Given the description of an element on the screen output the (x, y) to click on. 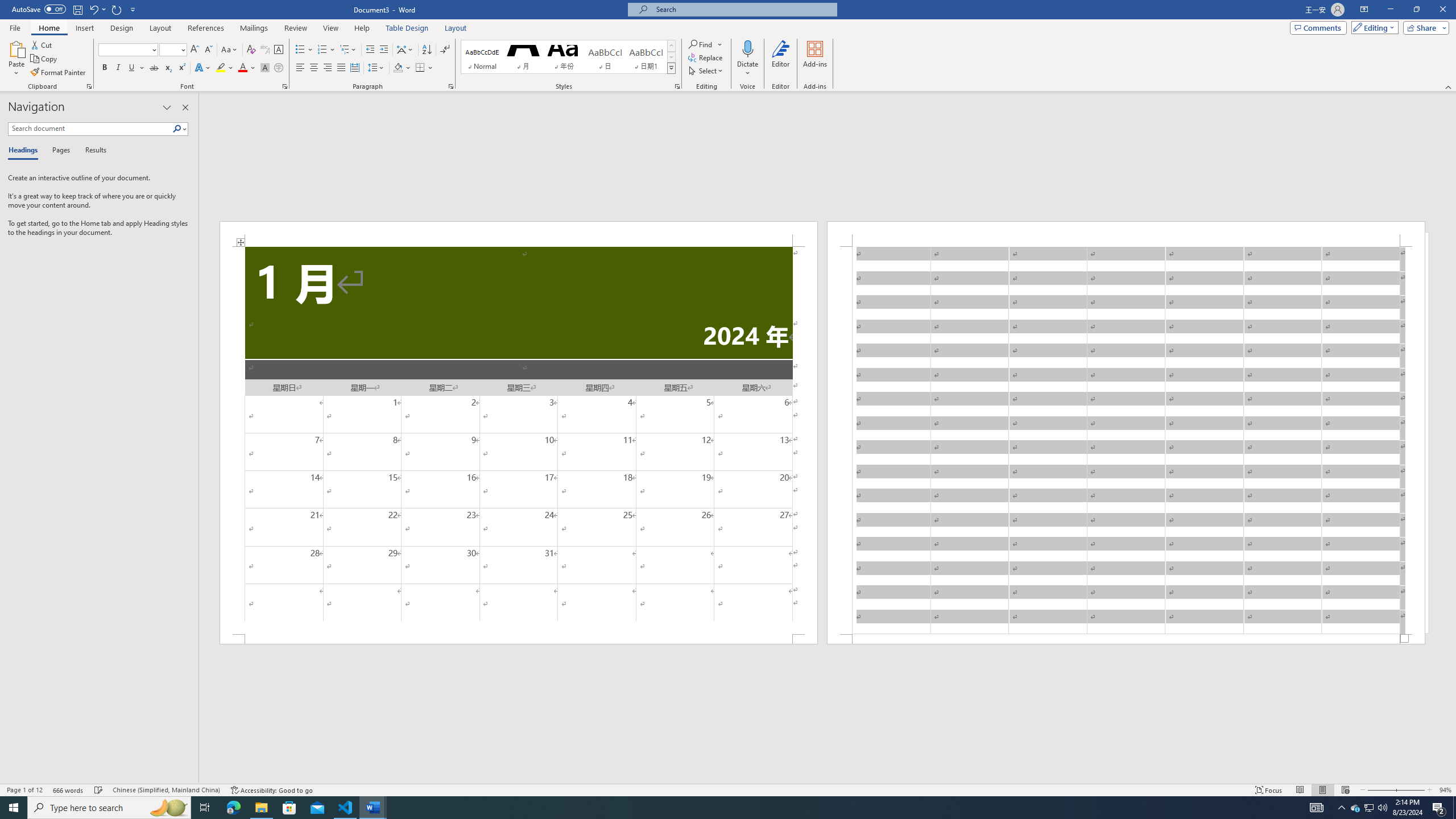
Format Painter (58, 72)
System (6, 6)
Styles... (676, 85)
Class: NetUIImage (671, 68)
File Tab (15, 27)
Spelling and Grammar Check Checking (98, 790)
System (6, 6)
Open (182, 49)
Search (179, 128)
Zoom Out (1380, 790)
Enclose Characters... (278, 67)
